Given the description of an element on the screen output the (x, y) to click on. 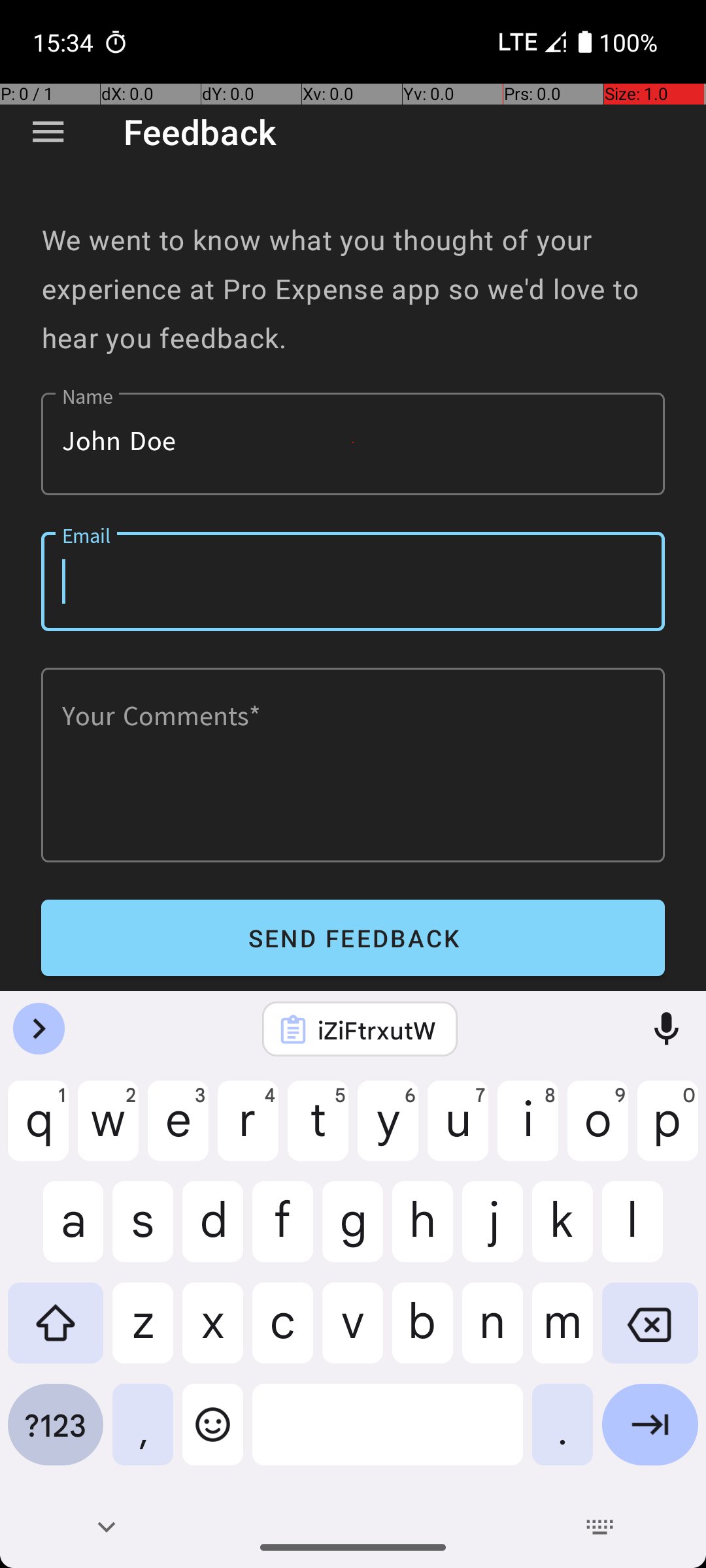
We went to know what you thought of your experience at Pro Expense app so we'd love to hear you feedback. Element type: android.widget.TextView (352, 288)
John Doe Element type: android.widget.EditText (352, 443)
Your Comments* Element type: android.widget.EditText (352, 764)
SEND FEEDBACK Element type: android.widget.Button (352, 937)
iZiFtrxutW Element type: android.widget.TextView (376, 1029)
